Given the description of an element on the screen output the (x, y) to click on. 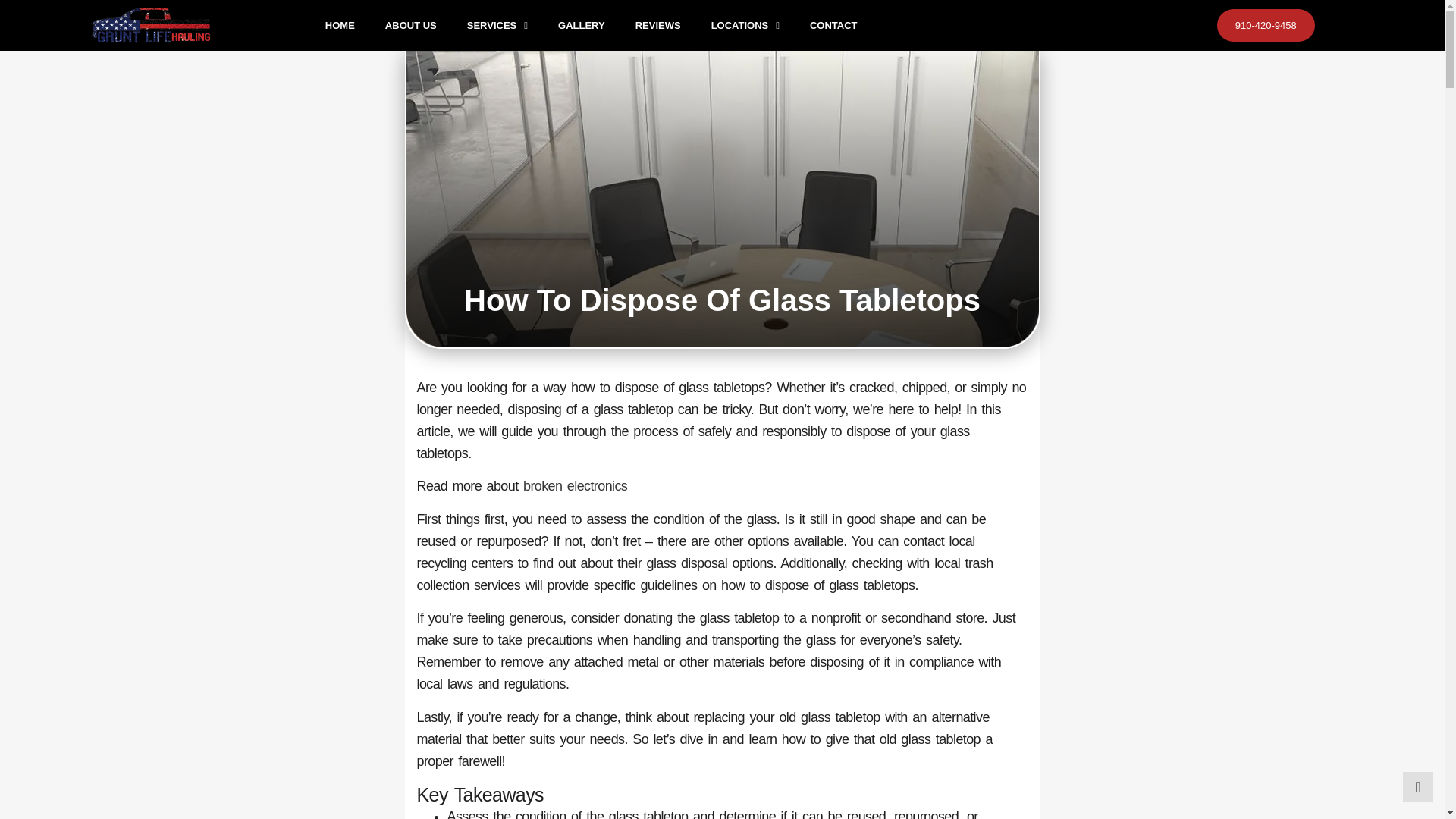
LOCATIONS (744, 25)
HOME (339, 25)
ABOUT US (410, 25)
SERVICES (497, 25)
CONTACT (833, 25)
REVIEWS (657, 25)
GALLERY (581, 25)
